Given the description of an element on the screen output the (x, y) to click on. 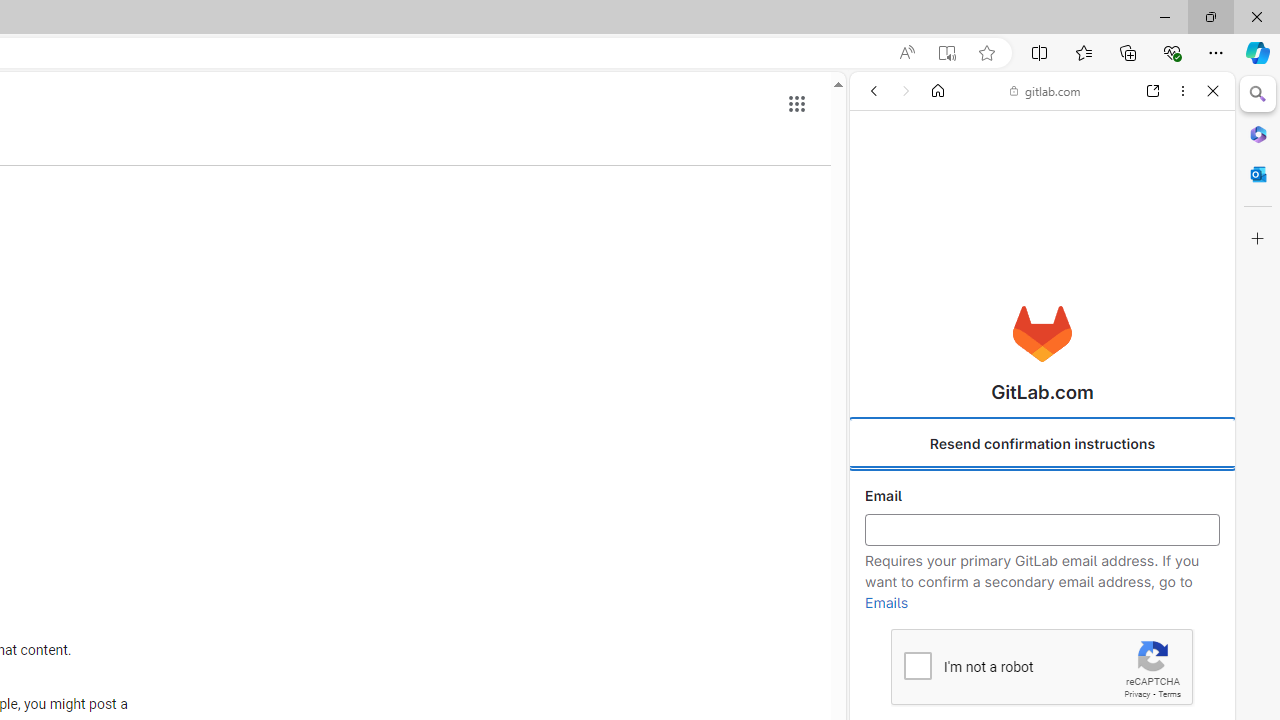
ALL   (881, 228)
Search Filter, ALL (881, 228)
I'm not a robot (916, 664)
Email (1042, 530)
